Given the description of an element on the screen output the (x, y) to click on. 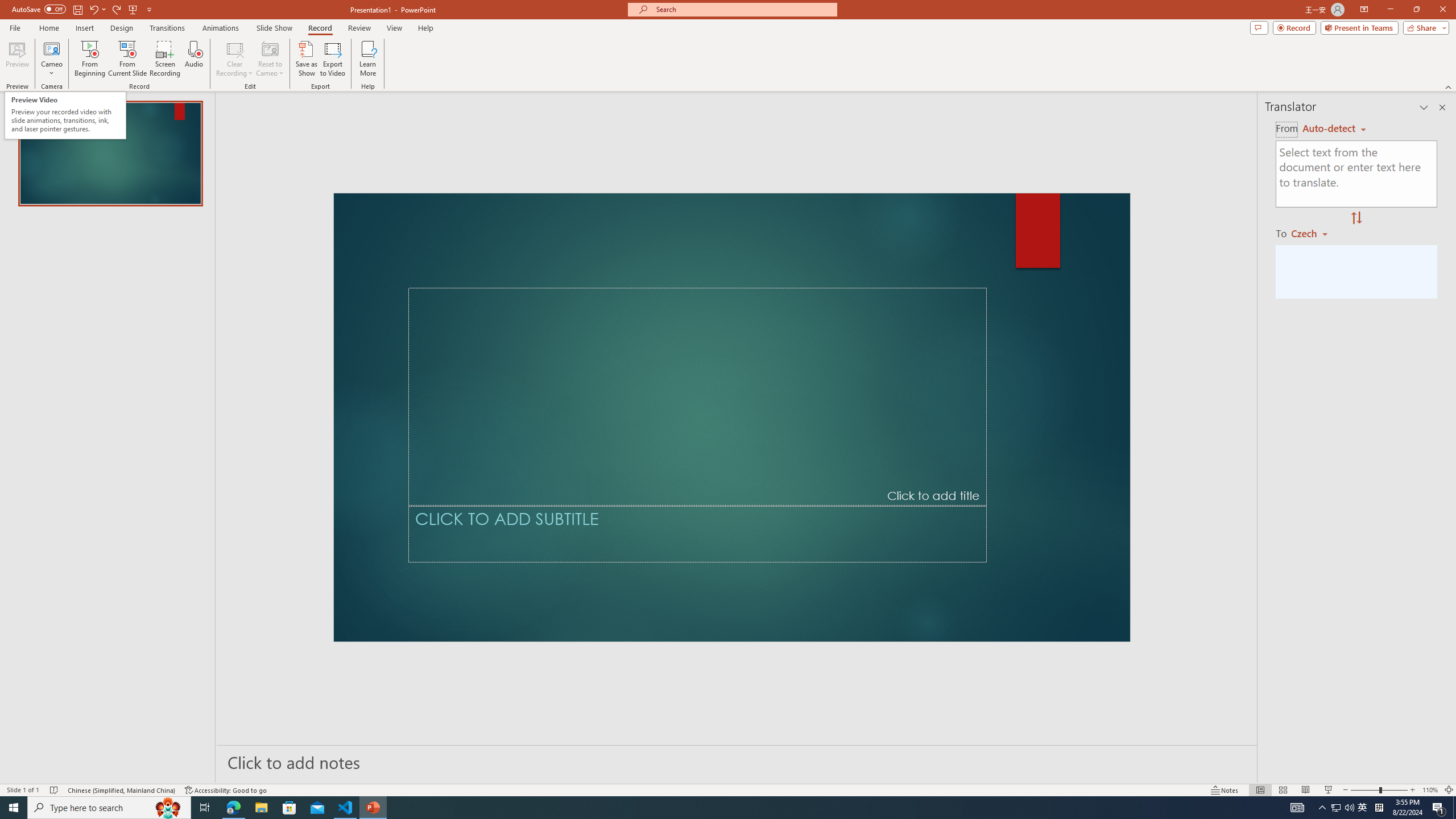
Reset to Cameo (269, 58)
Auto-detect (1334, 128)
Accessibility Checker Accessibility: Good to go (226, 790)
